Given the description of an element on the screen output the (x, y) to click on. 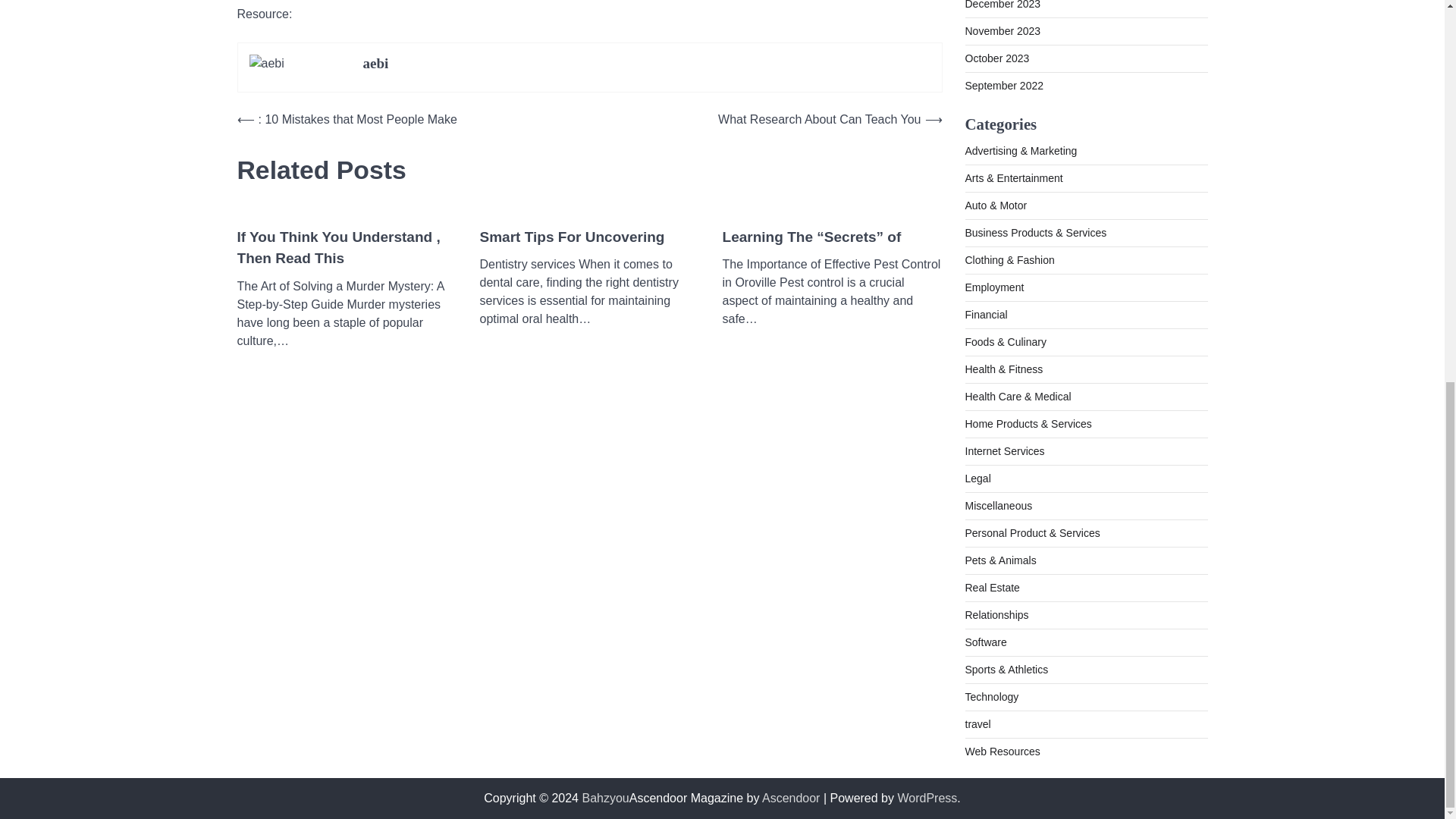
Employment (993, 287)
If You Think You Understand , Then Read This (346, 248)
Smart Tips For Uncovering (571, 237)
November 2023 (1002, 30)
September 2022 (1003, 85)
December 2023 (1002, 4)
Financial (985, 314)
October 2023 (996, 58)
